Given the description of an element on the screen output the (x, y) to click on. 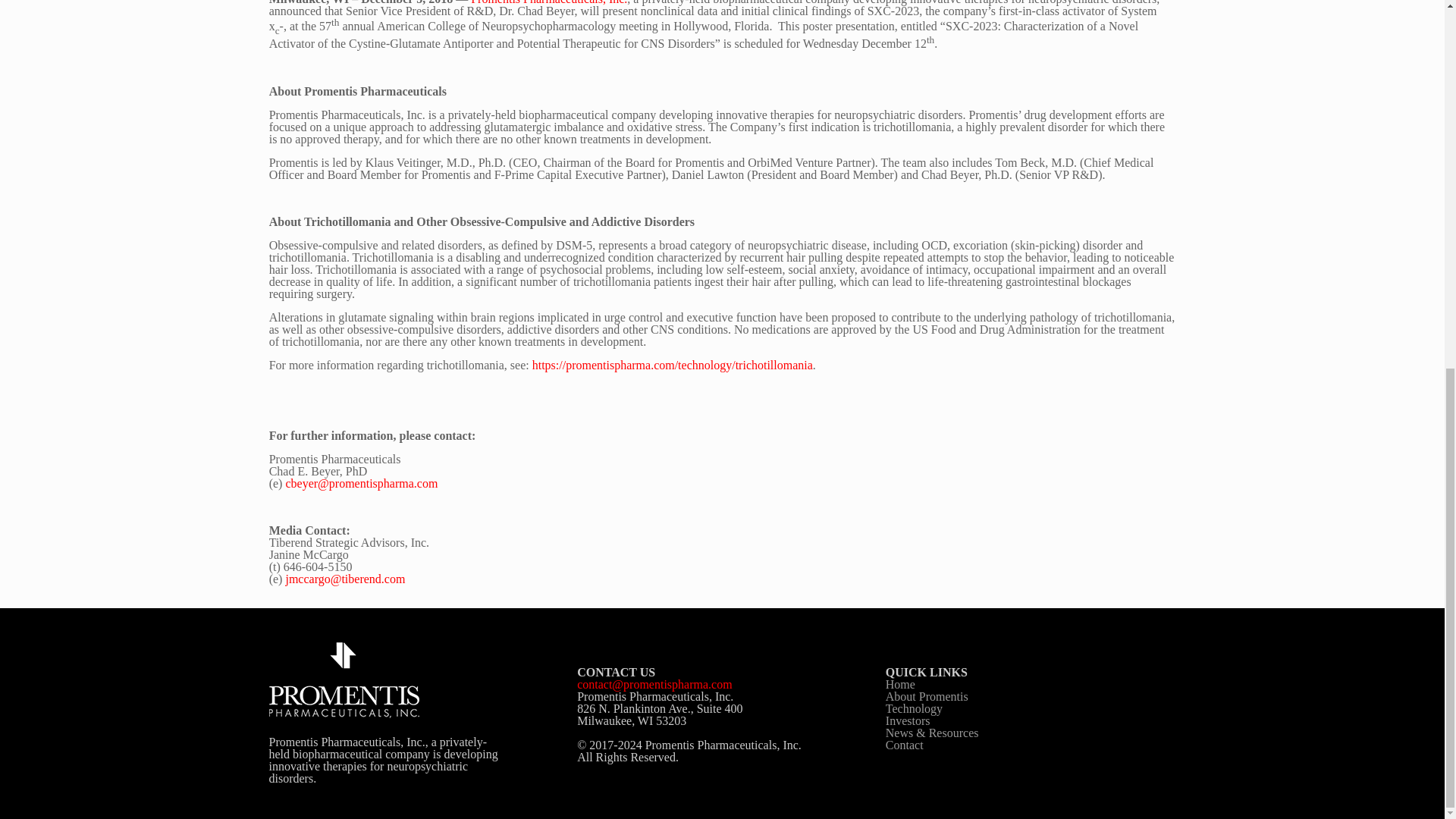
Investors (907, 720)
About Promentis (926, 696)
Home (900, 684)
Technology (913, 707)
Promentis Pharmaceuticals, Inc. (548, 2)
Contact (904, 744)
